Given the description of an element on the screen output the (x, y) to click on. 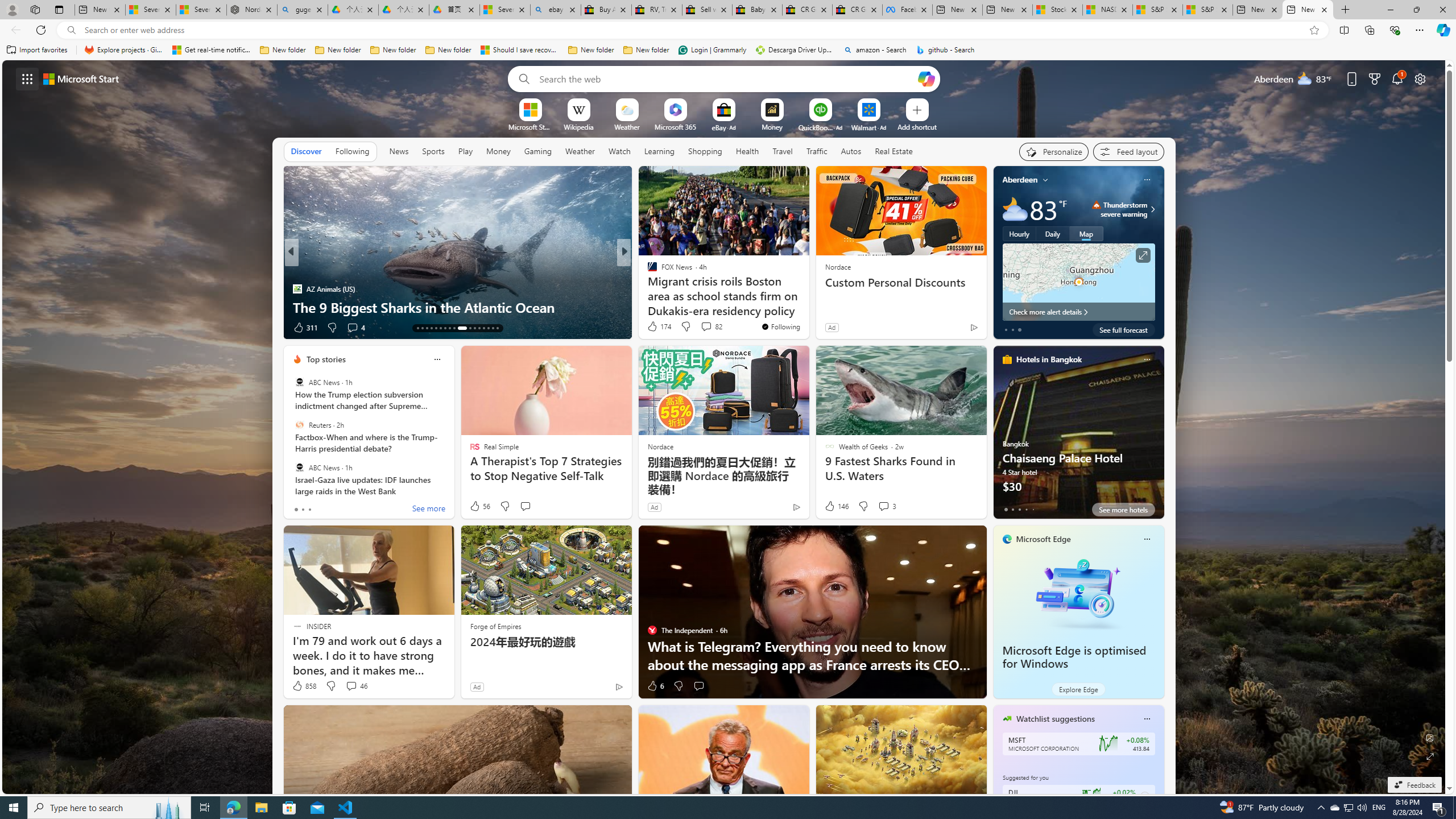
AZ Animals (US) (296, 288)
View comments 82 Comment (705, 326)
Microsoft Start Sports (529, 126)
Start the conversation (698, 685)
AutomationID: tab-23 (470, 328)
Autos (850, 151)
Don't trust AI for these 4 things (807, 307)
Real Estate (893, 151)
Travel (782, 151)
Chaisaeng Palace Hotel (1078, 436)
Real Estate (893, 151)
You're following FOX News (780, 326)
